Given the description of an element on the screen output the (x, y) to click on. 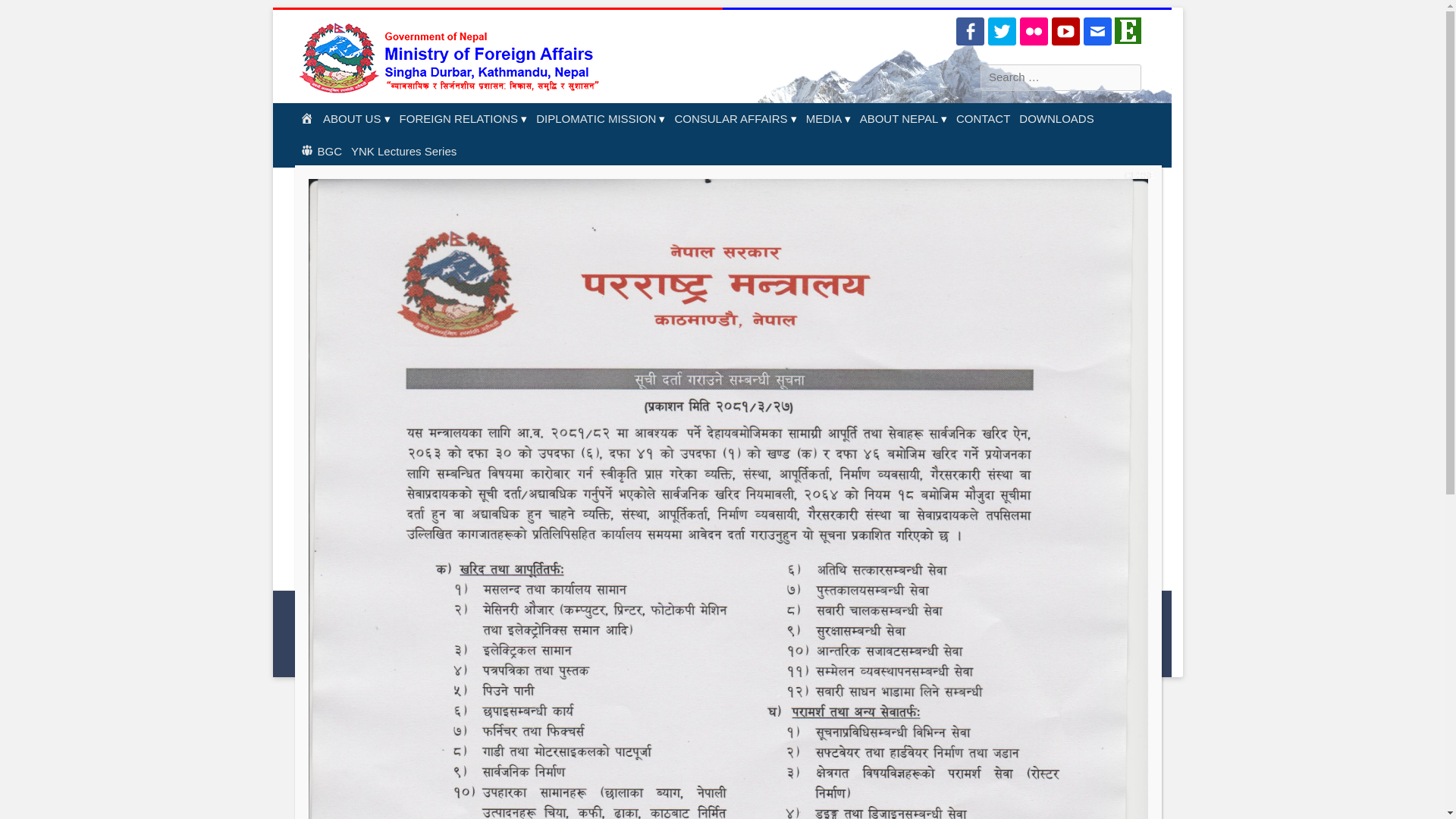
ABOUT US (356, 119)
FOREIGN RELATIONS (463, 119)
YouTube (1065, 31)
DIPLOMATIC MISSION (600, 119)
Flickr (1034, 31)
Facebook (970, 31)
Email (1097, 31)
CONSULAR AFFAIRS (734, 119)
YouTube (1065, 31)
Search for: (1060, 77)
Flickr (1034, 31)
Twitter (1002, 31)
Ehajiri (1126, 39)
Ministry of Foreign Affairs Nepal MOFA (454, 56)
Email (1097, 31)
